Given the description of an element on the screen output the (x, y) to click on. 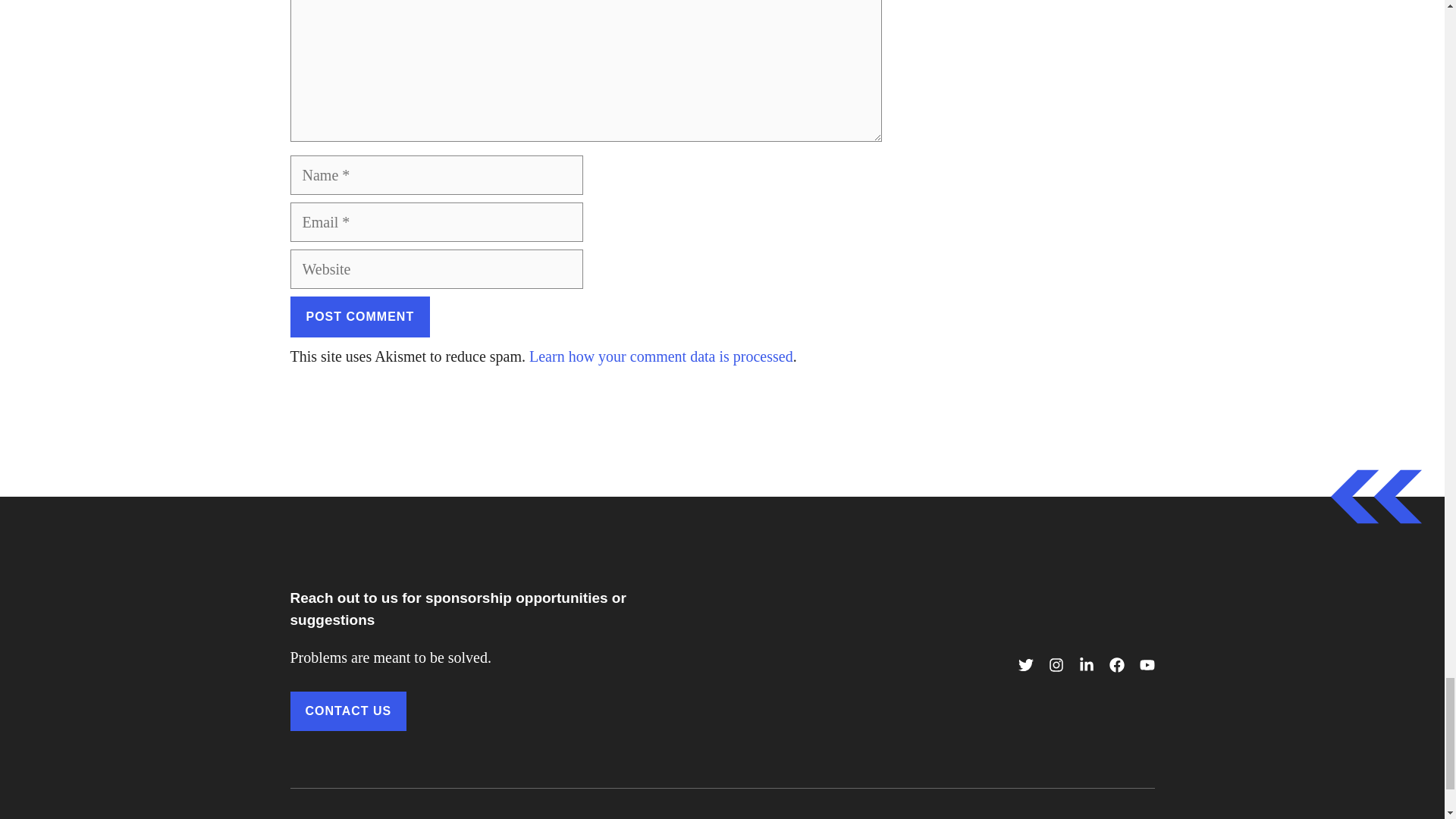
Post Comment (359, 316)
